Given the description of an element on the screen output the (x, y) to click on. 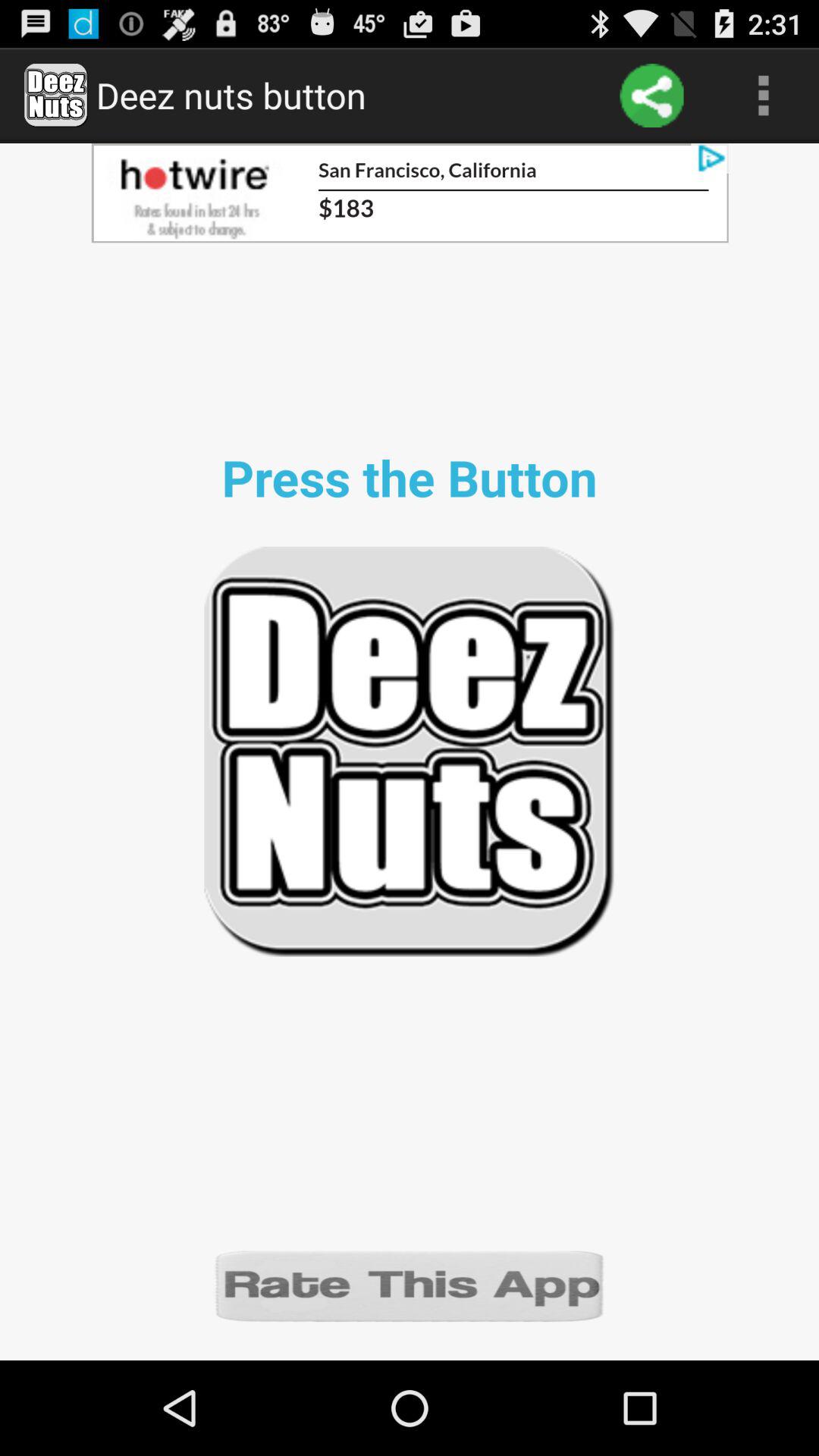
go to advertisement source (409, 192)
